Given the description of an element on the screen output the (x, y) to click on. 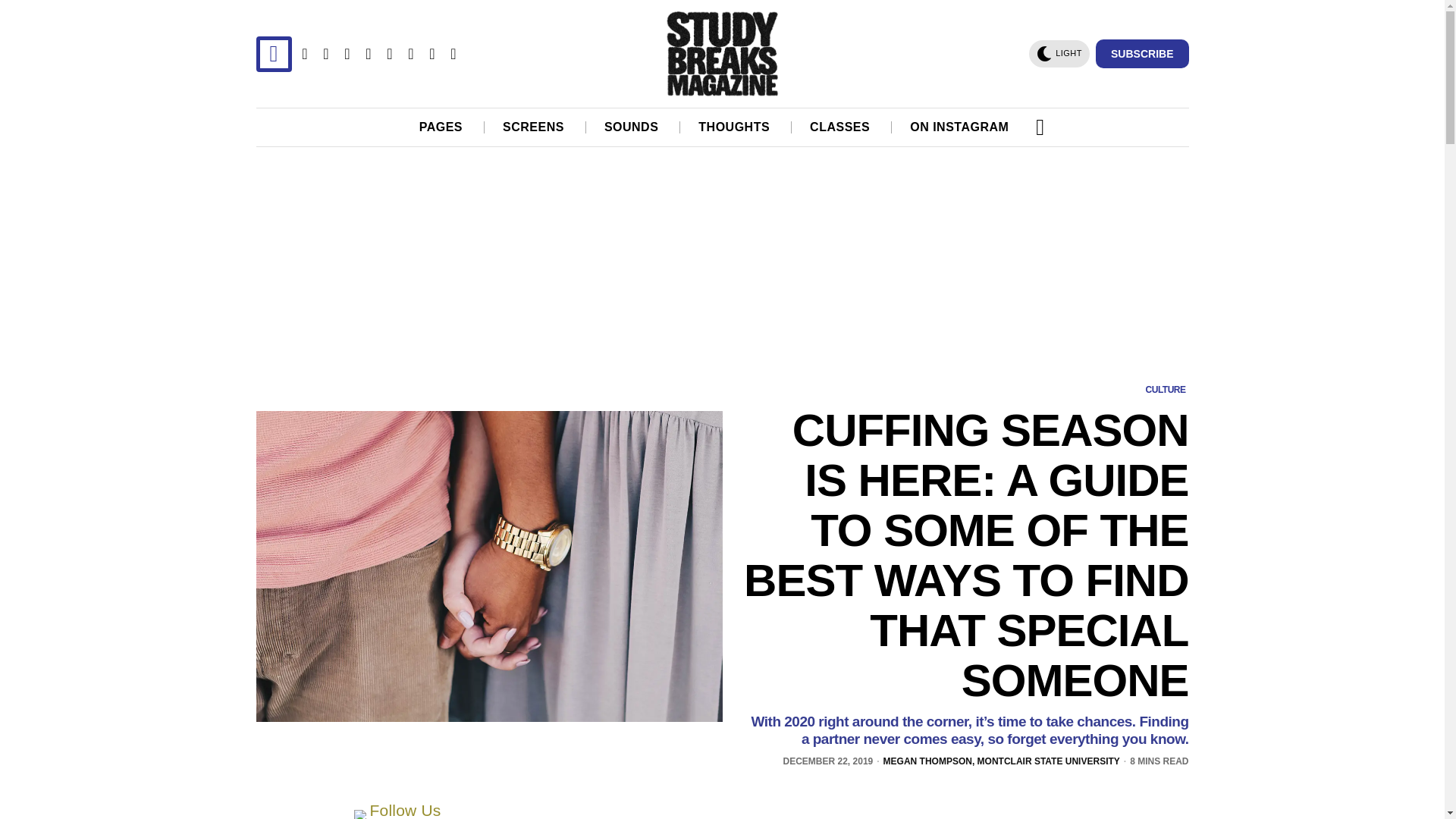
CLASSES (840, 127)
ON INSTAGRAM (960, 127)
22 Dec, 2019 08:17:00 (828, 761)
PAGES (441, 127)
THOUGHTS (734, 127)
SUBSCRIBE (1142, 53)
SOUNDS (632, 127)
SCREENS (534, 127)
